Given the description of an element on the screen output the (x, y) to click on. 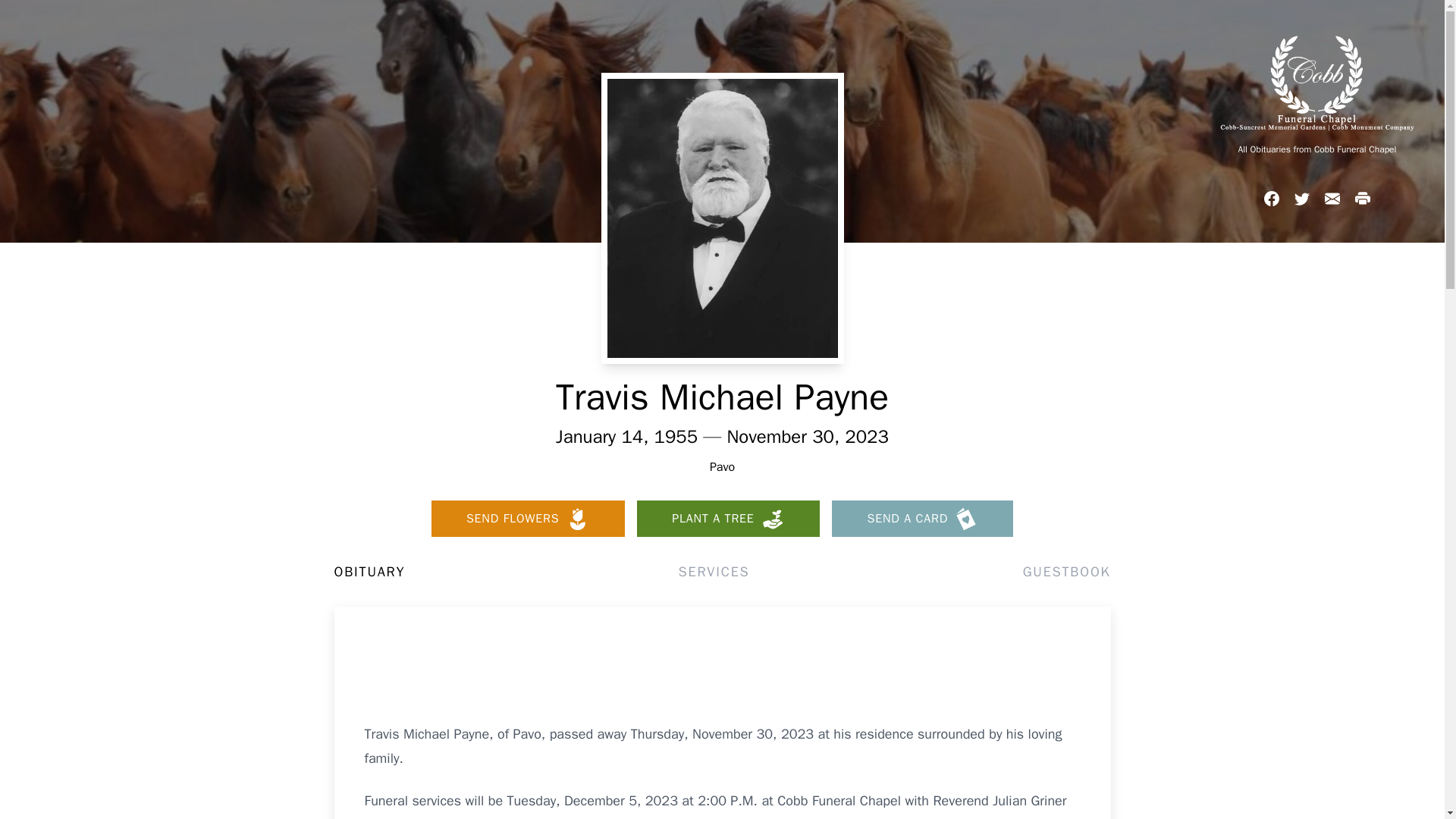
SERVICES (713, 571)
SEND FLOWERS (527, 518)
SEND A CARD (922, 518)
GUESTBOOK (1066, 571)
All Obituaries from Cobb Funeral Chapel (1316, 149)
OBITUARY (368, 571)
PLANT A TREE (728, 518)
